Given the description of an element on the screen output the (x, y) to click on. 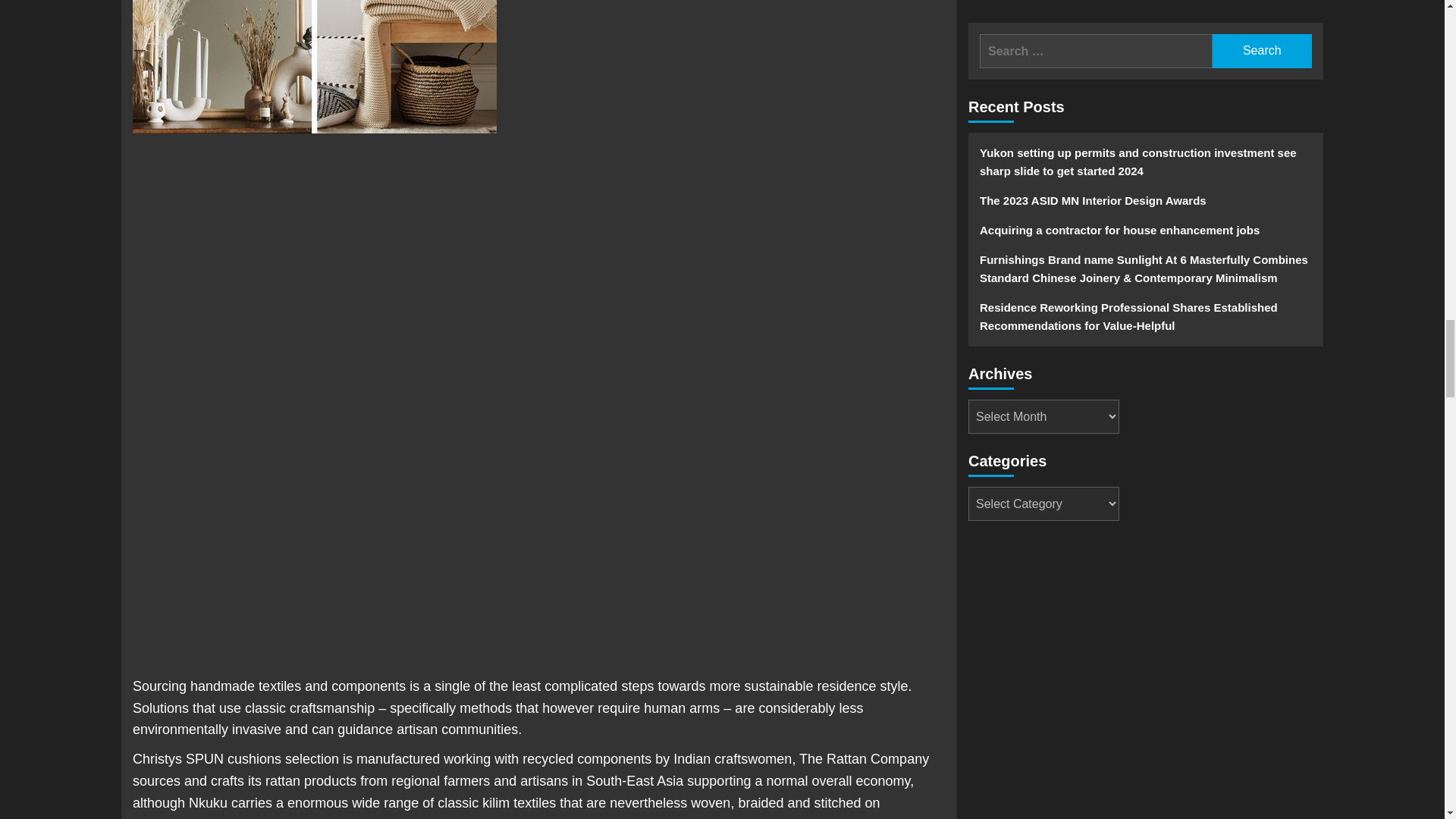
The Rattan Company (863, 758)
Sustainable home design (314, 66)
